Given the description of an element on the screen output the (x, y) to click on. 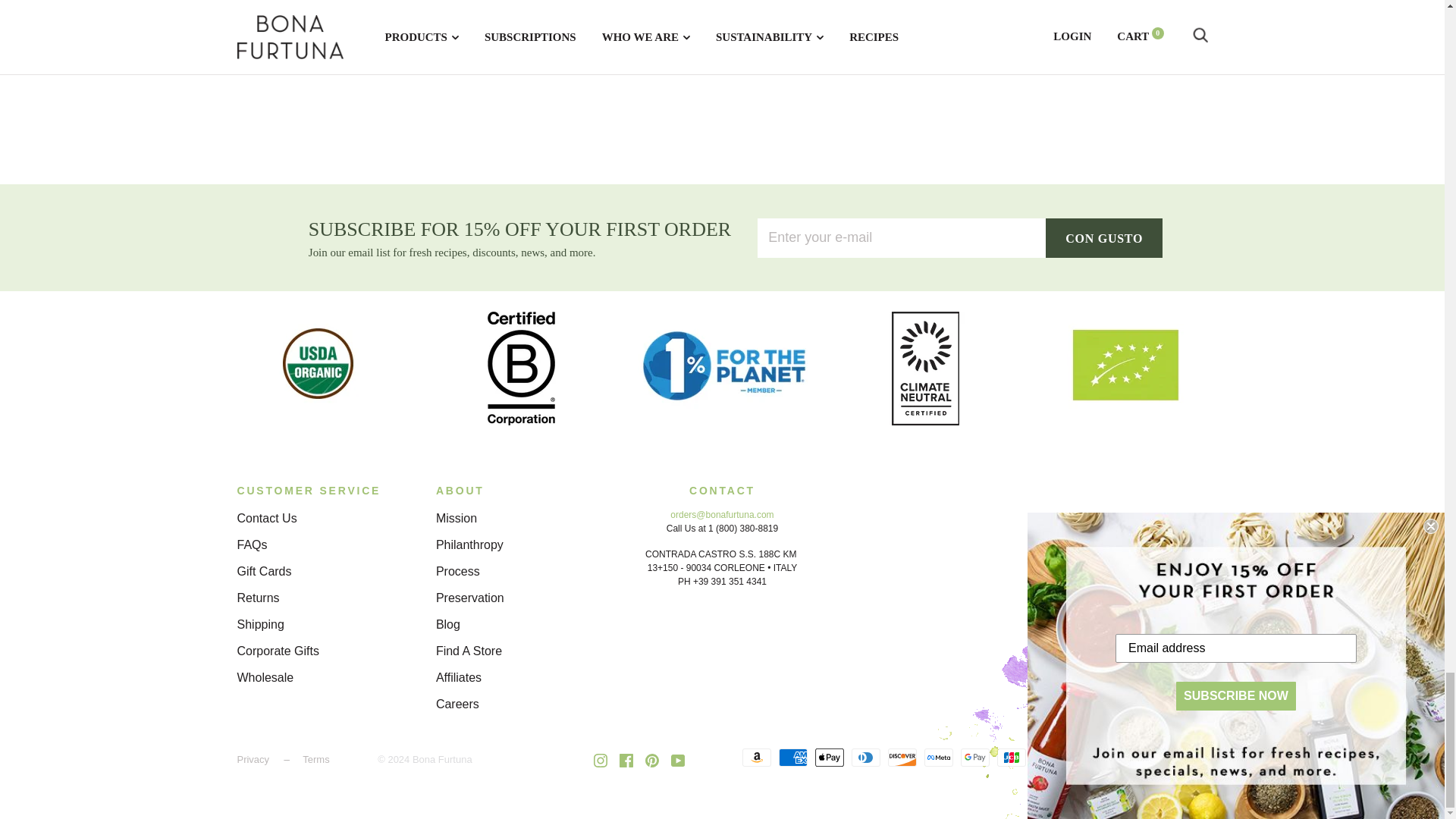
Google Pay (973, 757)
Con Gusto (1103, 237)
American Express (791, 757)
Discover (900, 757)
Meta Pay (937, 757)
Instagram (600, 760)
Facebook (626, 760)
Apple Pay (828, 757)
PayPal (1082, 757)
YouTube (677, 760)
Diners Club (864, 757)
JCB (1010, 757)
Amazon (755, 757)
Pinterest (652, 760)
Mastercard (1046, 757)
